Given the description of an element on the screen output the (x, y) to click on. 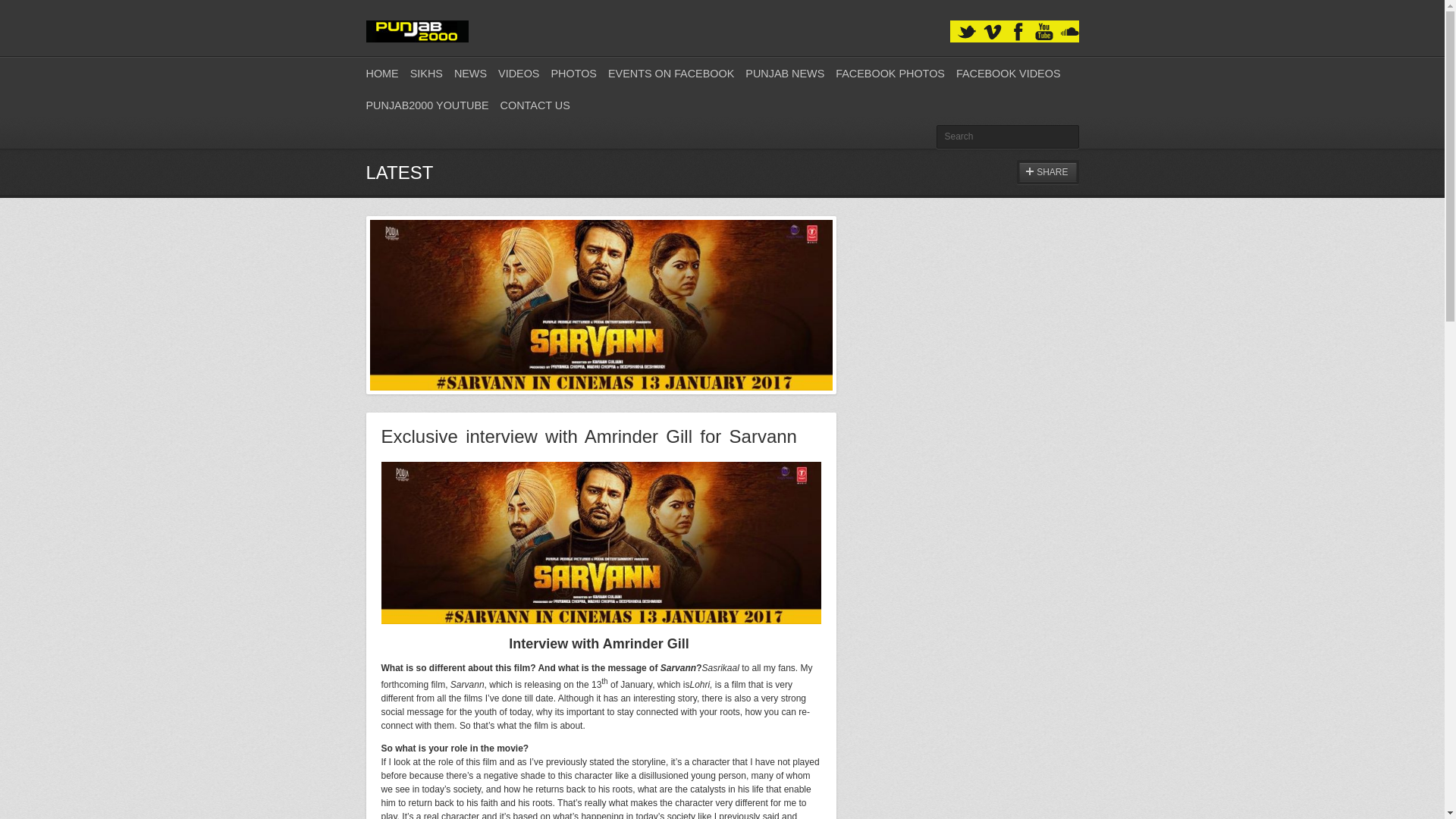
Twitter (965, 31)
SHARE (1047, 171)
HOME (381, 73)
SIKHS (426, 73)
FACEBOOK PHOTOS (889, 73)
SoundCloud (1068, 31)
NEWS (470, 73)
Vimeo (991, 31)
CONTACT US (535, 105)
EVENTS ON FACEBOOK (670, 73)
FACEBOOK VIDEOS (1008, 73)
PHOTOS (573, 73)
PUNJAB NEWS (784, 73)
Facebook (1017, 31)
VIDEOS (517, 73)
